Given the description of an element on the screen output the (x, y) to click on. 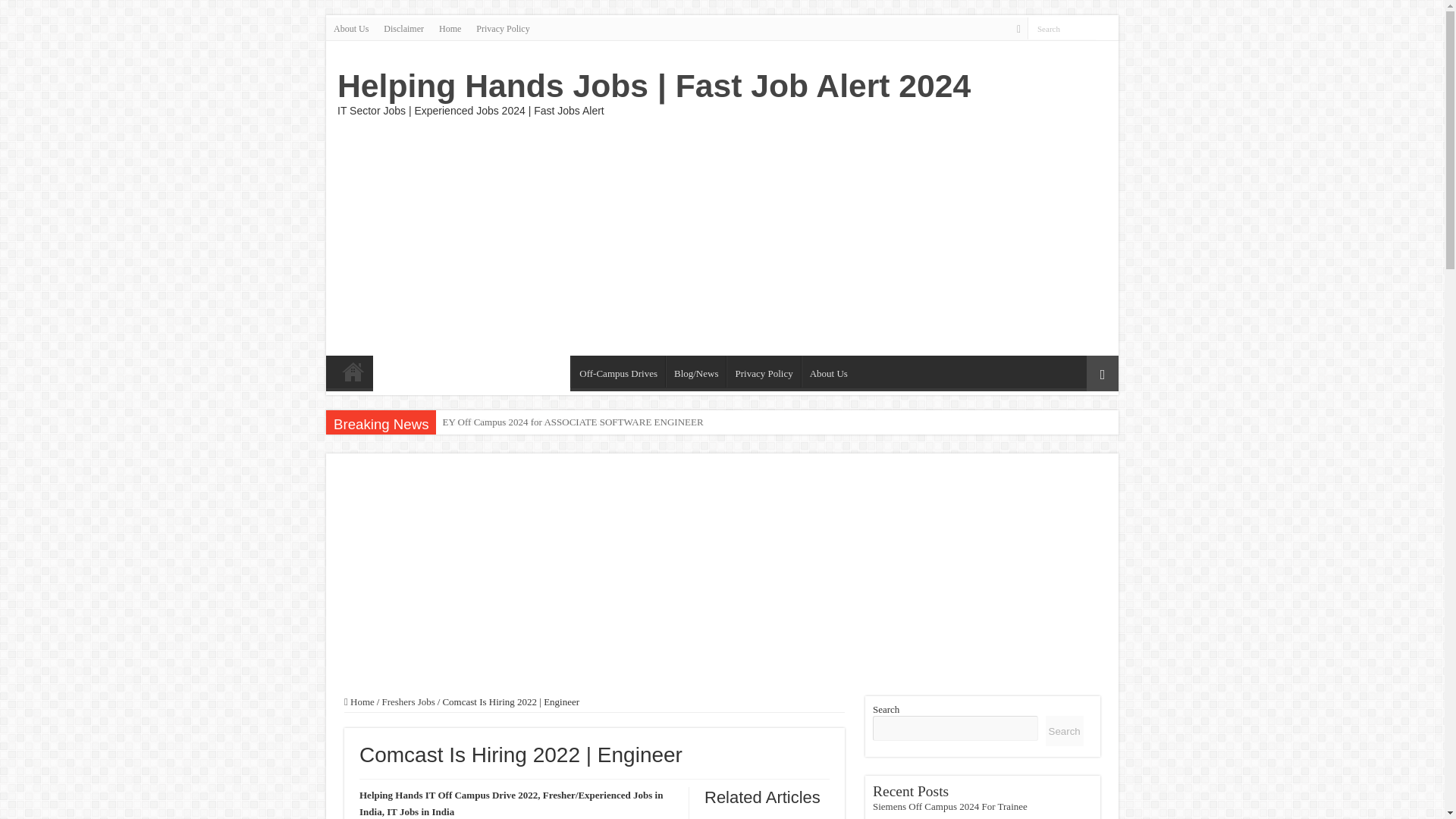
Advertisement (830, 233)
Disclaimer (402, 28)
IT-Jobs (394, 371)
Search (1061, 28)
Freshers Jobs (451, 371)
Search (1061, 28)
Home (352, 371)
Privacy Policy (762, 371)
Home (449, 28)
Experienced Jobs (528, 371)
About Us (350, 28)
Privacy Policy (502, 28)
Freshers Jobs (407, 701)
Search (1107, 28)
Epiq Off Campus 2024 for Software Engineer (531, 422)
